Given the description of an element on the screen output the (x, y) to click on. 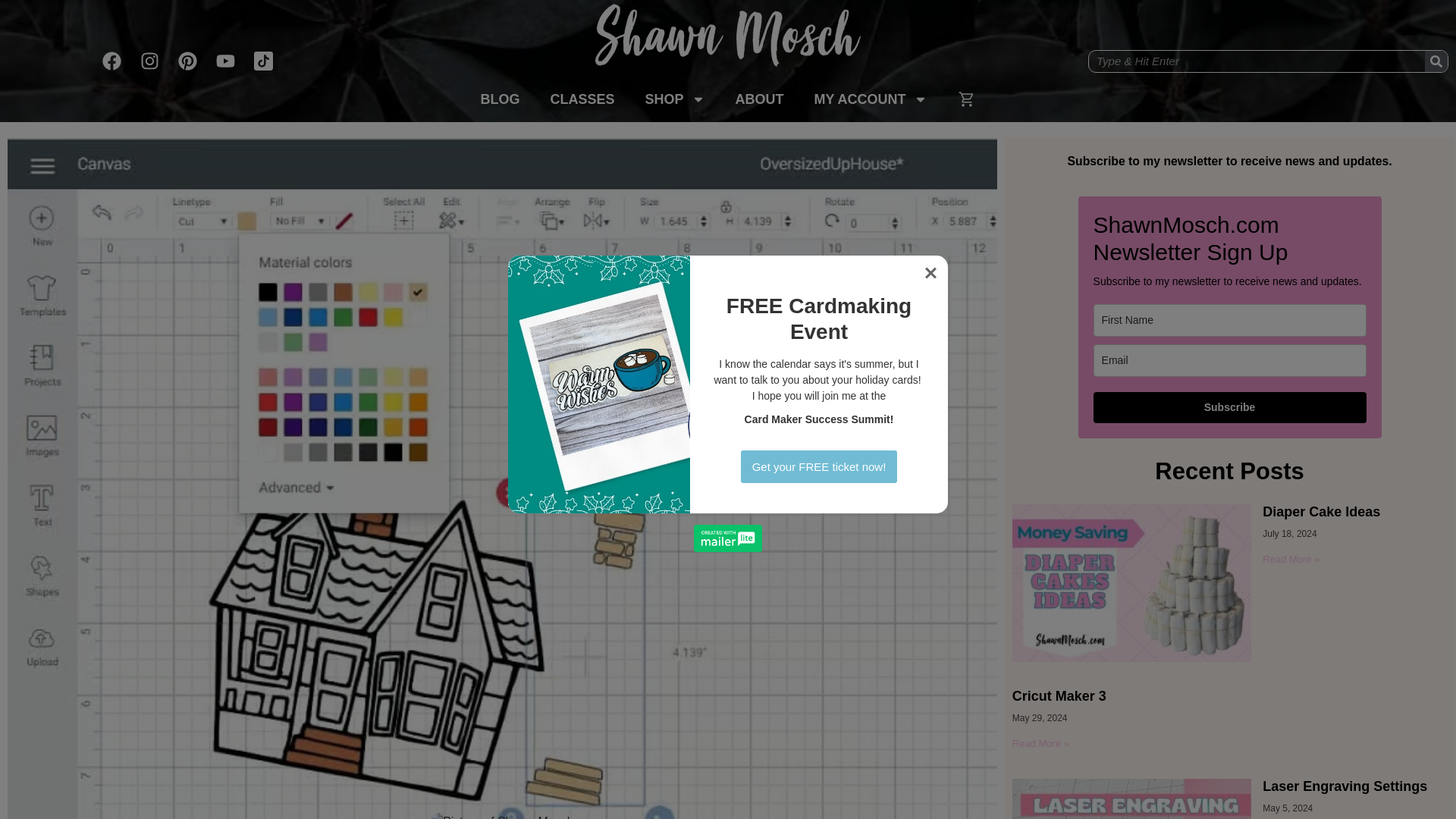
BLOG (499, 98)
ABOUT (759, 98)
MY ACCOUNT (870, 98)
shawnmosch (727, 42)
SHOP (673, 98)
CLASSES (581, 98)
